Given the description of an element on the screen output the (x, y) to click on. 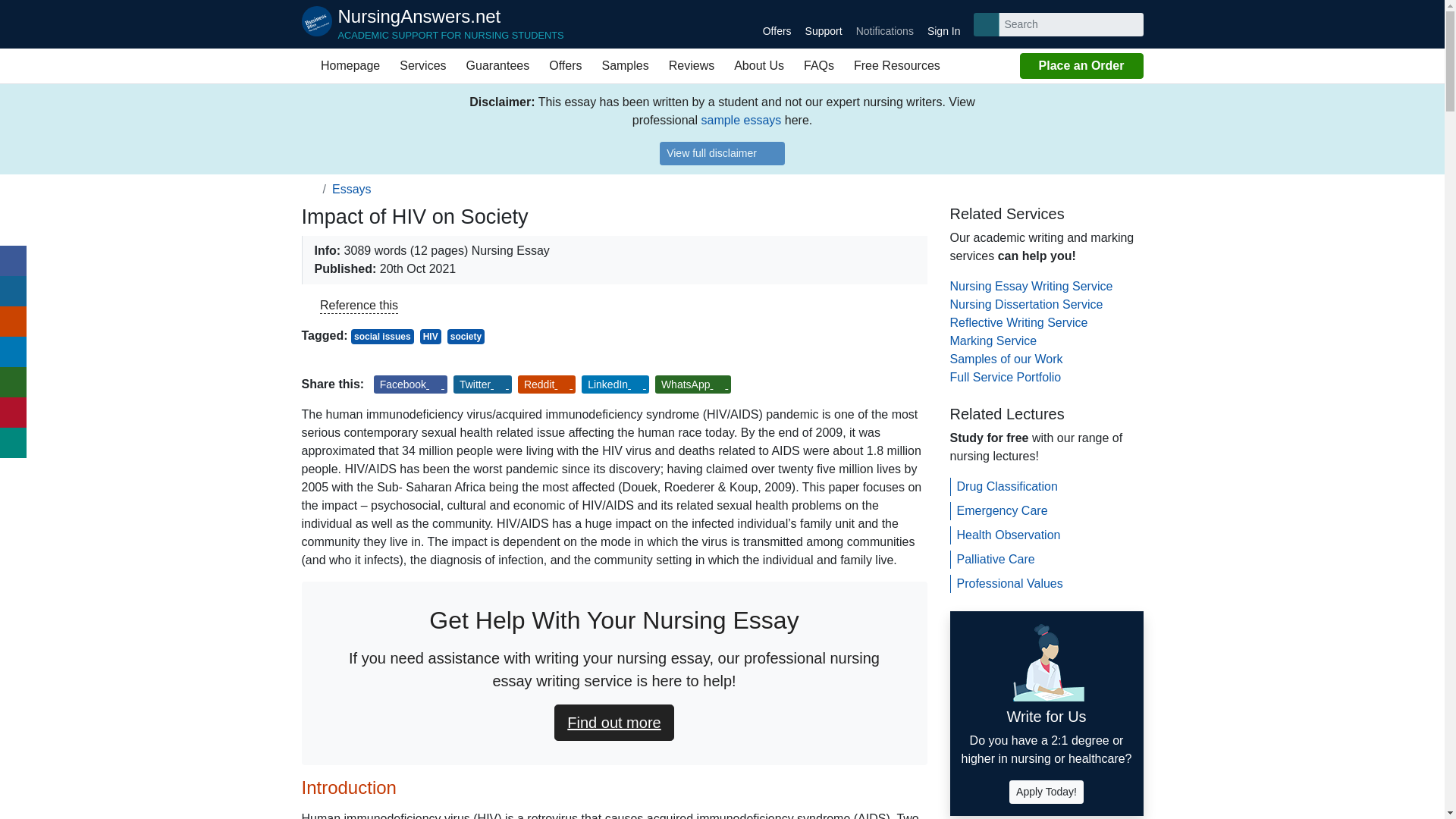
Offers (776, 23)
Support (432, 23)
Guarantees (822, 23)
Go to the NursingAnswers.net homepage (498, 65)
Homepage (432, 23)
About Us (345, 65)
Reviews (758, 65)
Notifications (691, 65)
View full disclaimer (884, 23)
Offers (721, 153)
homepage link (564, 65)
Services (309, 188)
Sign In (422, 65)
Samples (944, 23)
